Given the description of an element on the screen output the (x, y) to click on. 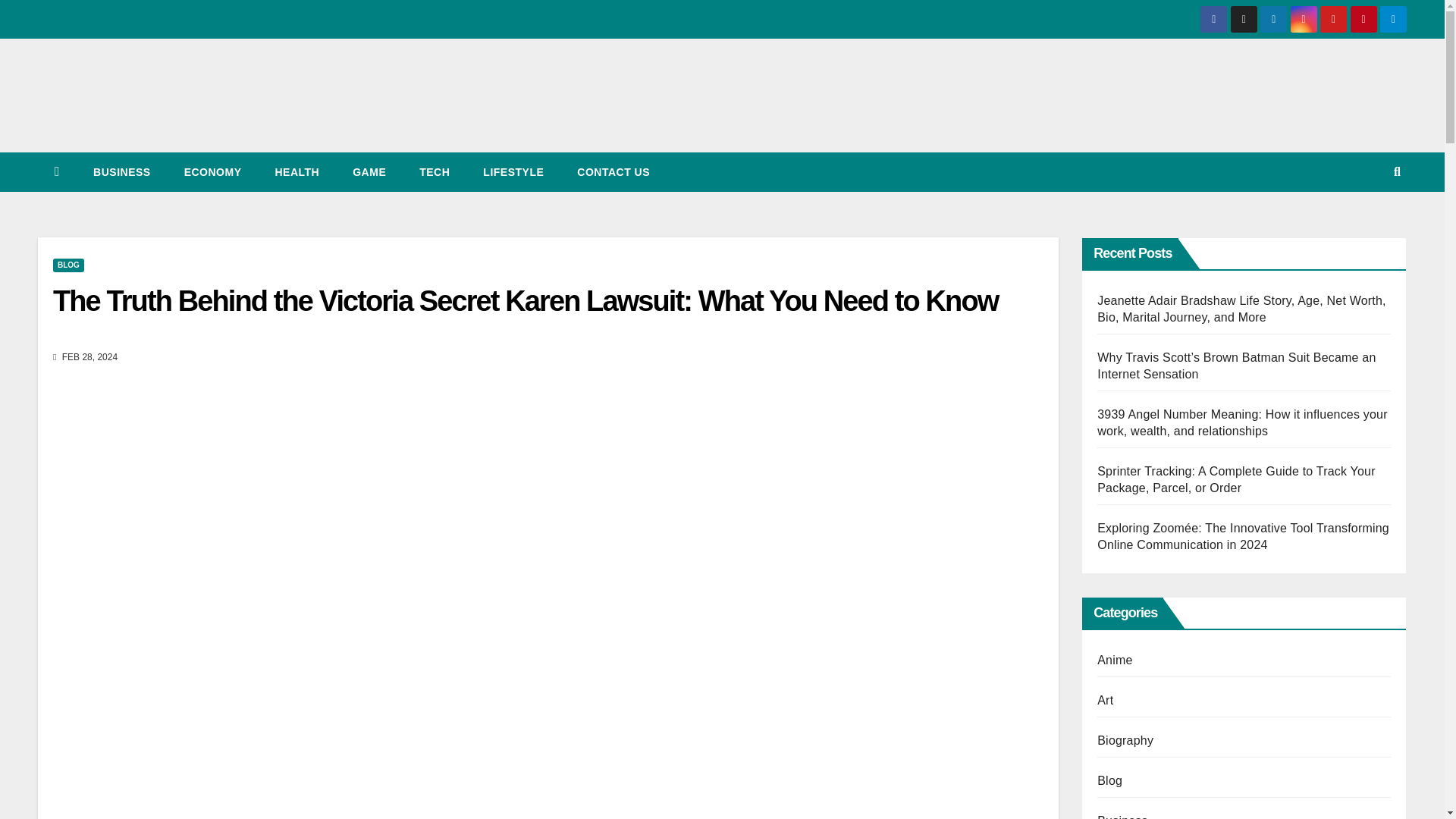
TECH (434, 171)
Game (369, 171)
ECONOMY (213, 171)
Economy (213, 171)
Business (122, 171)
HEALTH (296, 171)
BUSINESS (122, 171)
BLOG (68, 264)
LIFESTYLE (512, 171)
Contact Us (613, 171)
Health (296, 171)
Tech (434, 171)
LIFESTYLE (512, 171)
